Given the description of an element on the screen output the (x, y) to click on. 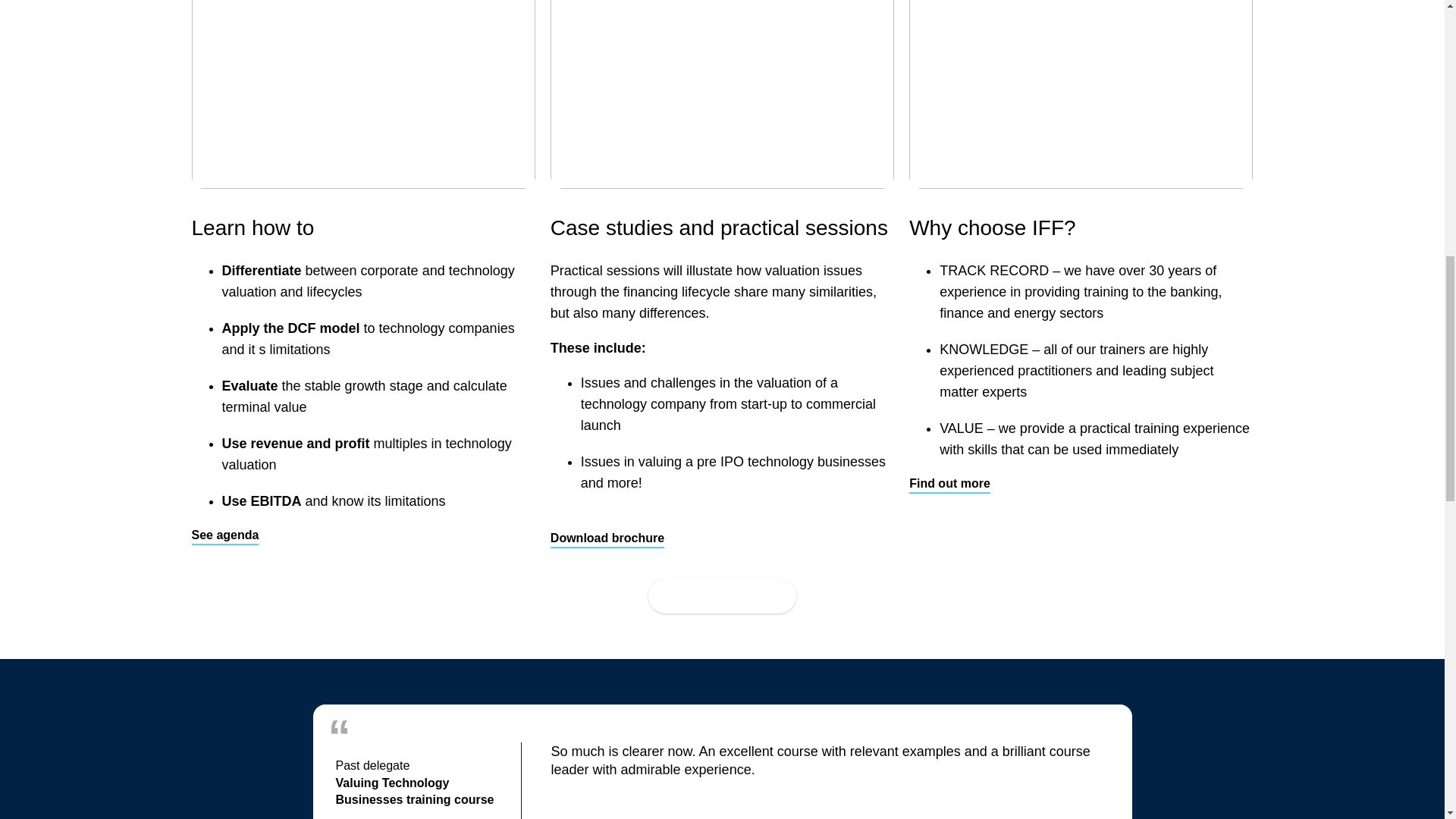
Download brochure (606, 538)
Find out more (949, 484)
See agenda (224, 536)
Book Now (720, 595)
